Given the description of an element on the screen output the (x, y) to click on. 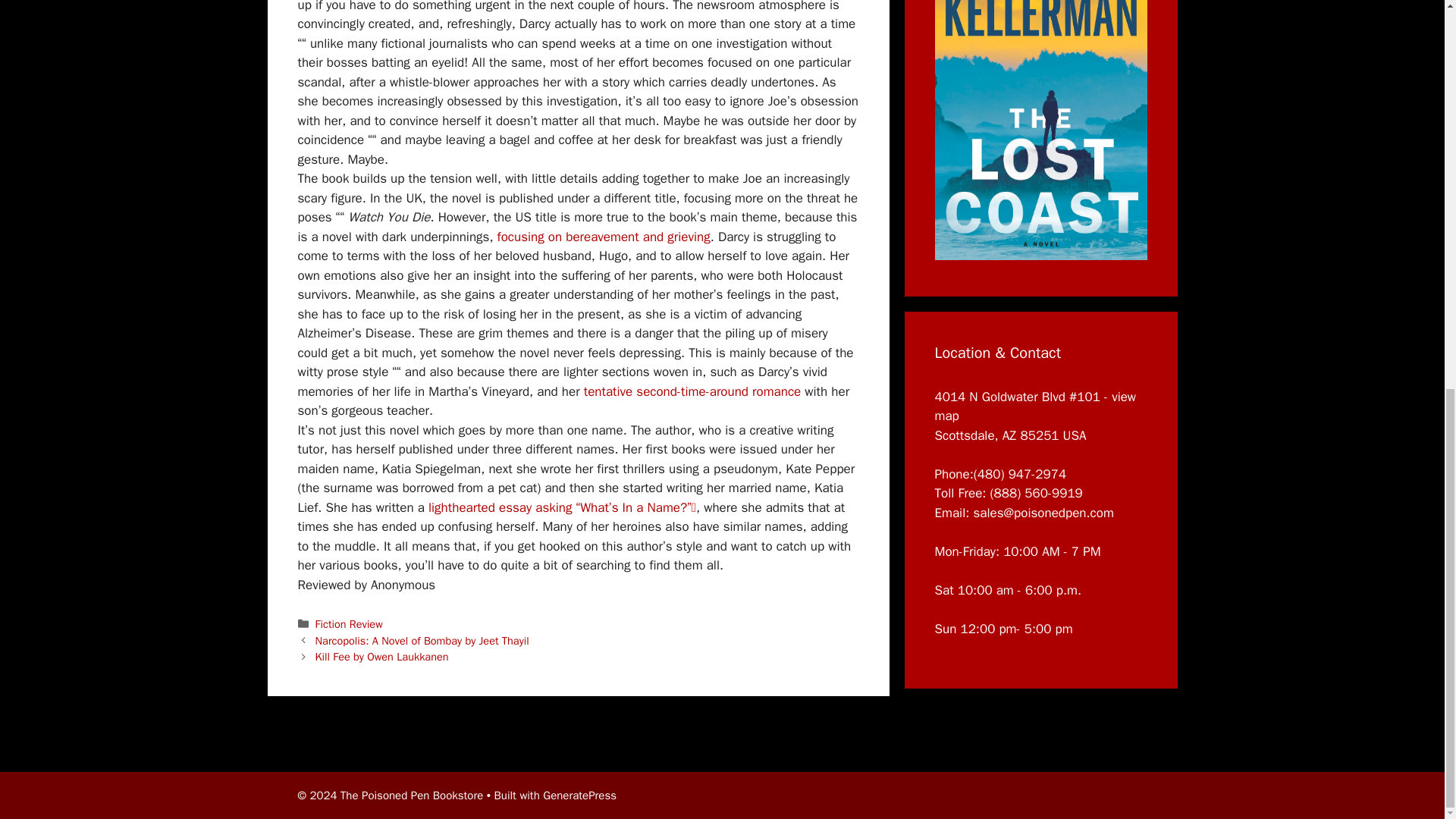
tentative second-time-around romance (692, 391)
Kill Fee by Owen Laukkanen (381, 656)
Scroll back to top (1406, 801)
Fiction Review (348, 623)
Narcopolis: A Novel of Bombay by Jeet Thayil (422, 640)
focusing on bereavement and grieving (603, 236)
